Given the description of an element on the screen output the (x, y) to click on. 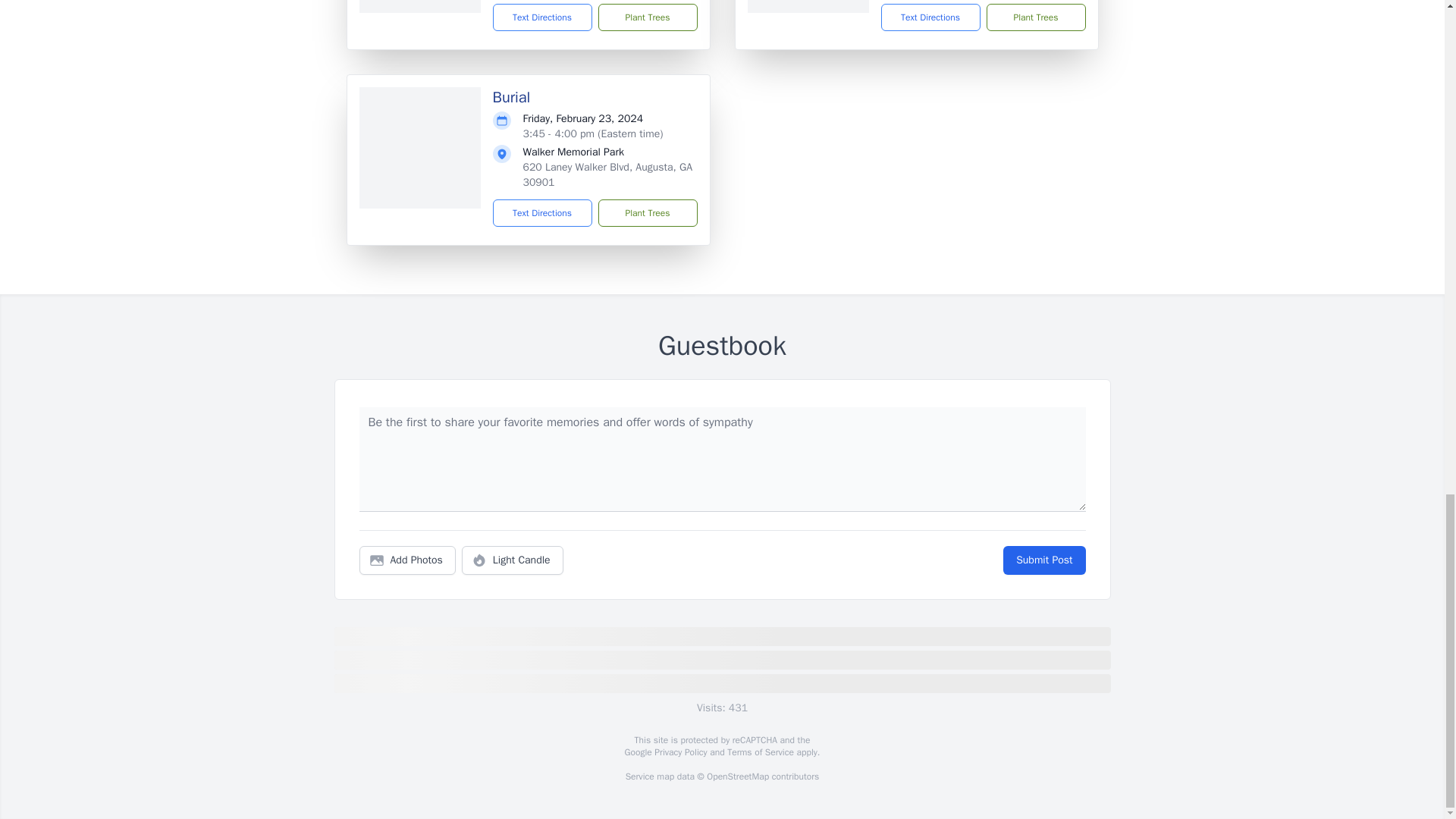
Plant Trees (646, 212)
Text Directions (929, 17)
Add Photos (407, 560)
Plant Trees (646, 17)
Privacy Policy (679, 752)
Submit Post (1043, 560)
Text Directions (542, 17)
Light Candle (512, 560)
620 Laney Walker Blvd, Augusta, GA 30901 (607, 174)
Plant Trees (1034, 17)
Text Directions (542, 212)
